Given the description of an element on the screen output the (x, y) to click on. 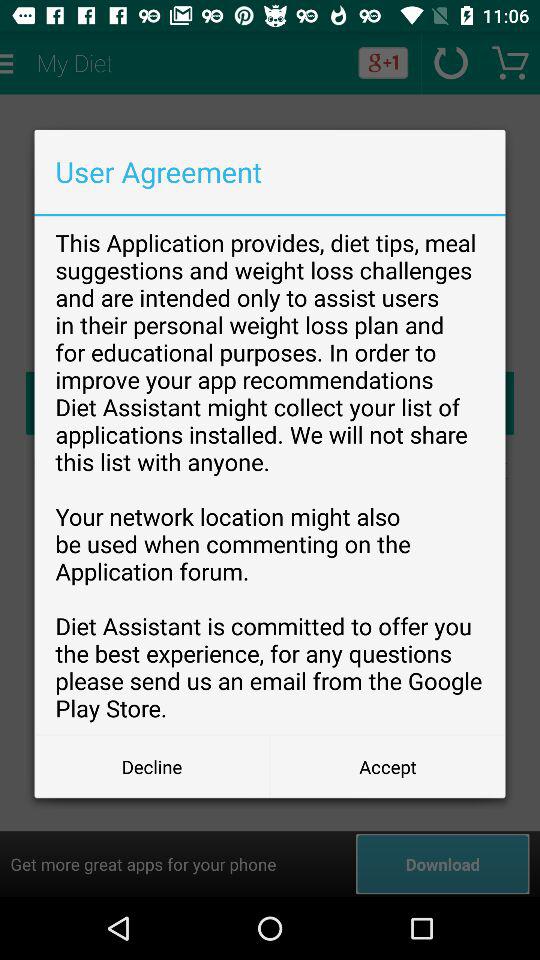
select icon to the left of accept button (151, 766)
